Given the description of an element on the screen output the (x, y) to click on. 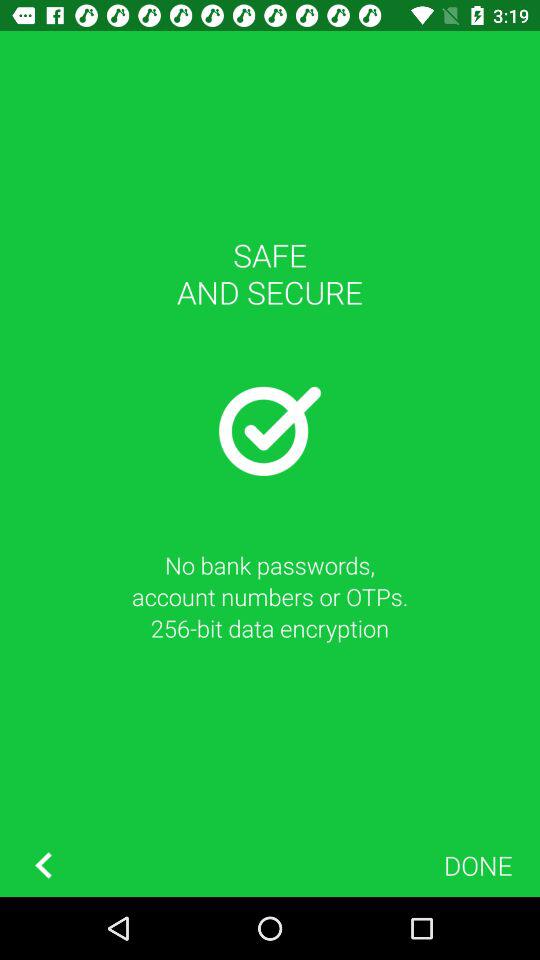
select the icon to the left of the done icon (43, 864)
